Given the description of an element on the screen output the (x, y) to click on. 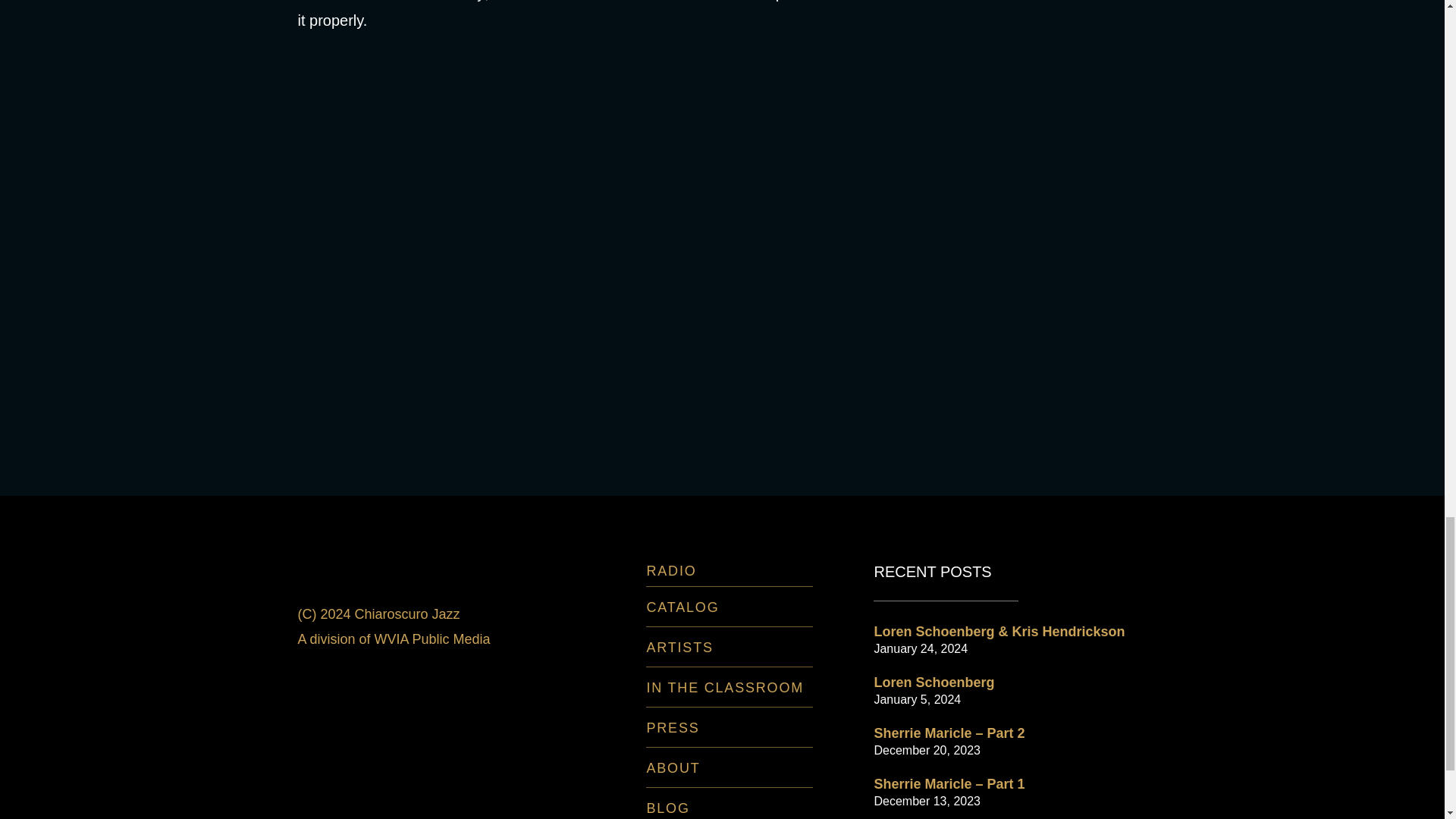
BLOG (667, 807)
RADIO (670, 570)
Loren Schoenberg (933, 682)
PRESS (672, 727)
CATALOG (682, 607)
IN THE CLASSROOM (724, 687)
ARTISTS (679, 647)
ABOUT (673, 767)
